Given the description of an element on the screen output the (x, y) to click on. 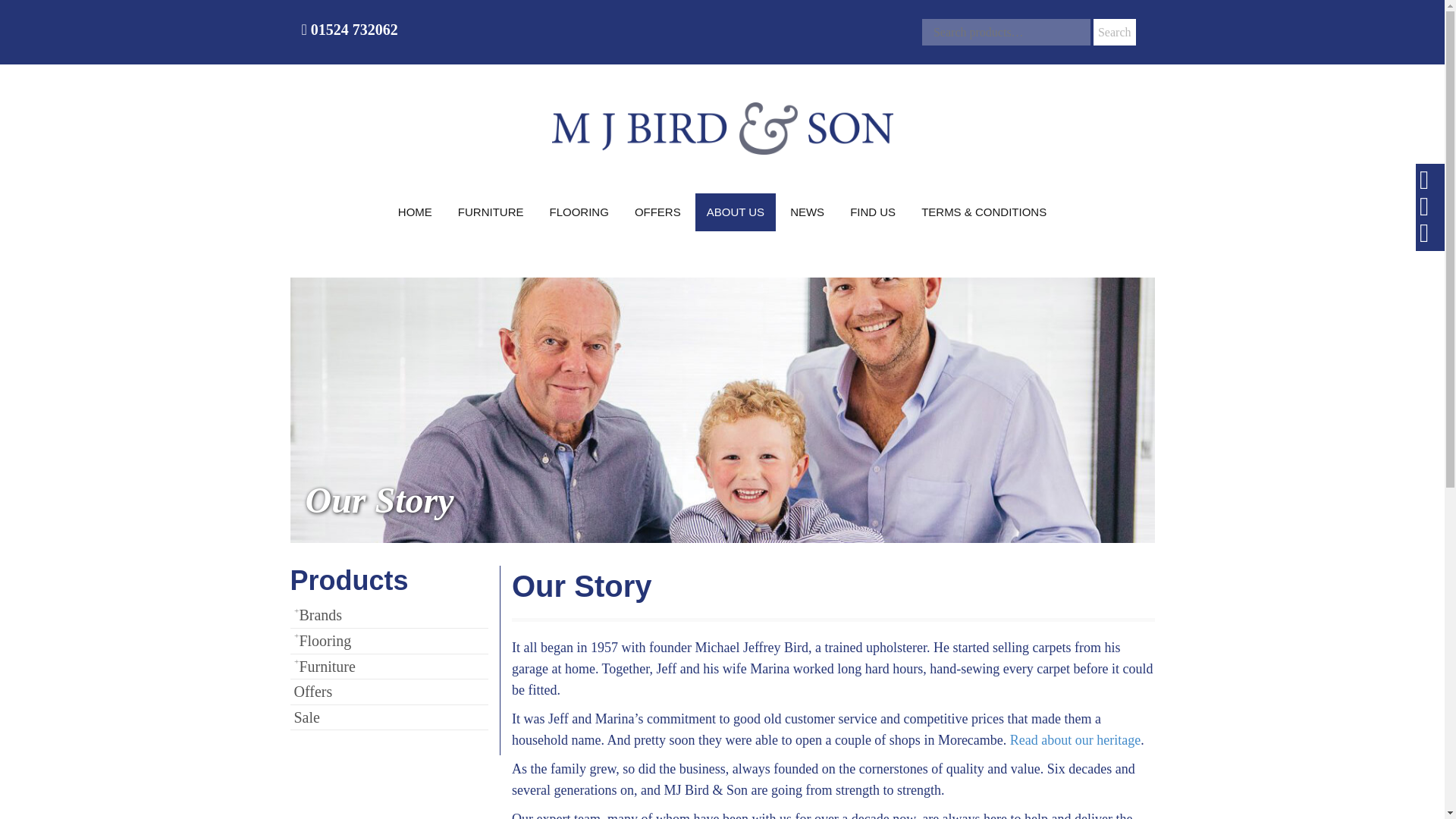
HOME (415, 211)
OFFERS (658, 211)
Flooring (579, 211)
Find Us (872, 211)
FIND US (872, 211)
Home (415, 211)
Search (1114, 31)
FLOORING (579, 211)
01524 732062 (349, 29)
Offers (658, 211)
Brands (388, 615)
FURNITURE (490, 211)
Furniture (490, 211)
NEWS (806, 211)
About Us (735, 211)
